Given the description of an element on the screen output the (x, y) to click on. 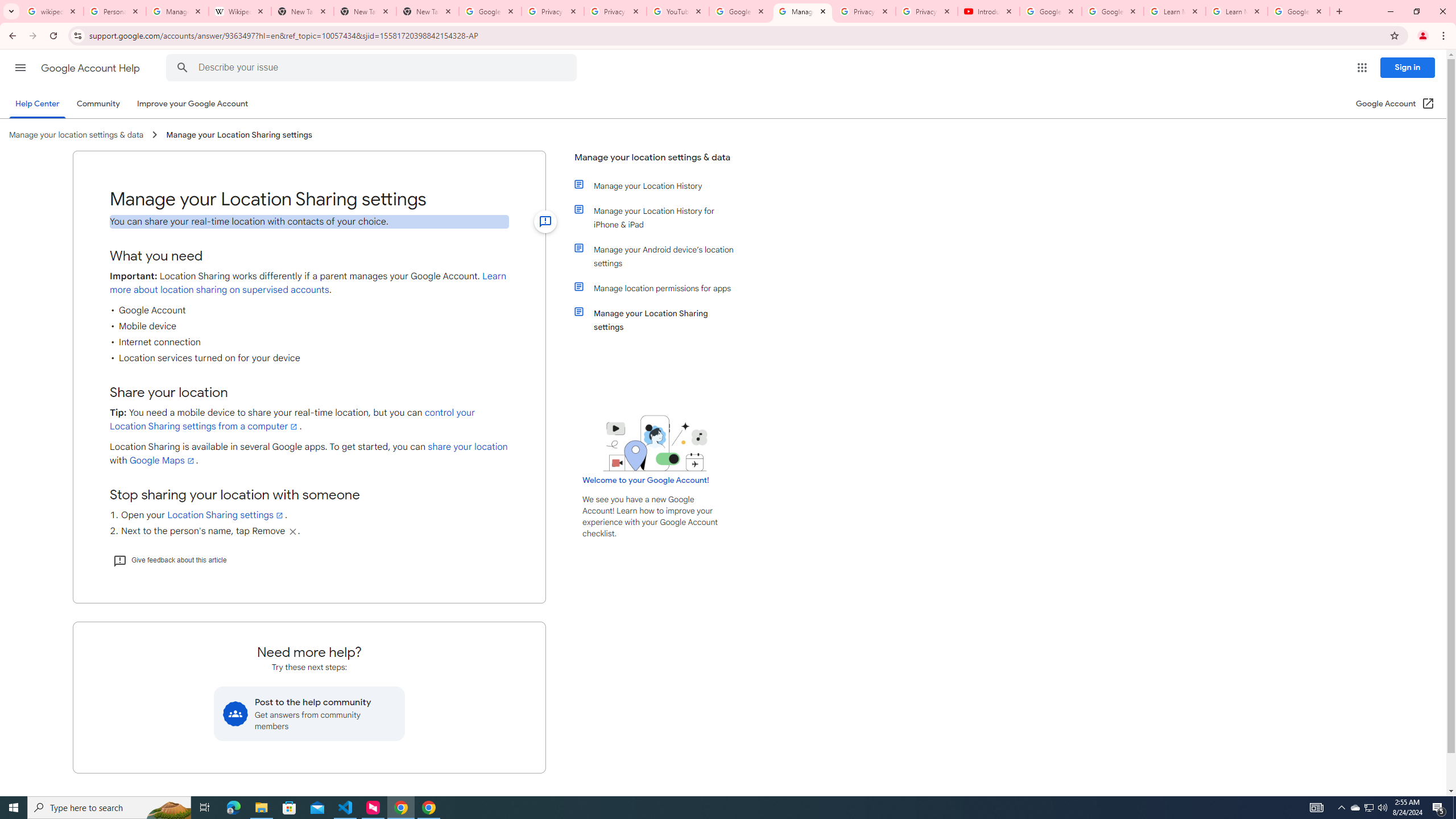
Google Account (1298, 11)
Give feedback about this article (169, 559)
Welcome to your Google Account! (645, 479)
Google Maps (162, 460)
Google Account Help (1111, 11)
Introduction | Google Privacy Policy - YouTube (988, 11)
